Given the description of an element on the screen output the (x, y) to click on. 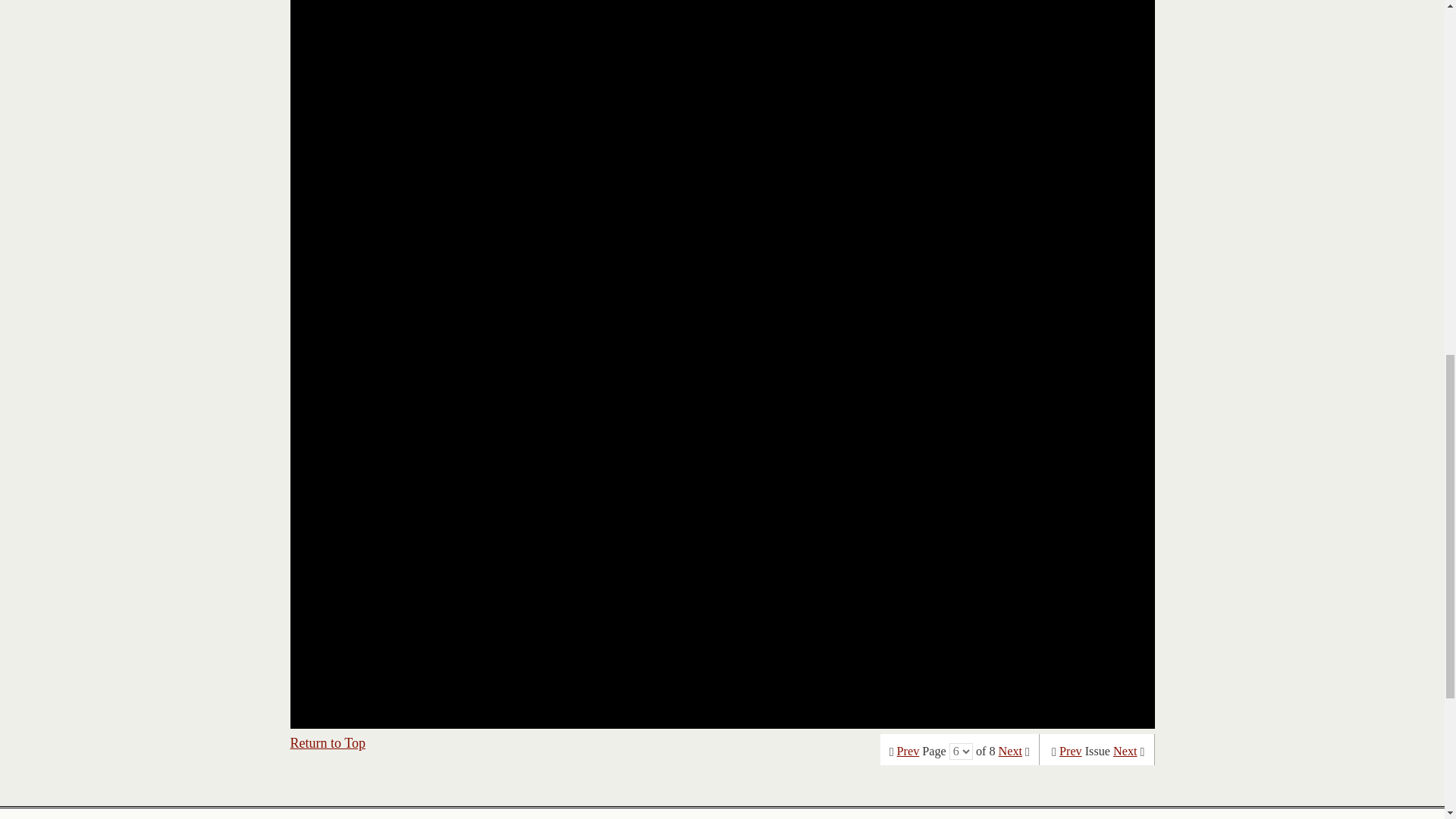
Next (1010, 751)
Prev (908, 751)
Prev (1070, 751)
Return to Top (327, 743)
Next (1125, 751)
